Given the description of an element on the screen output the (x, y) to click on. 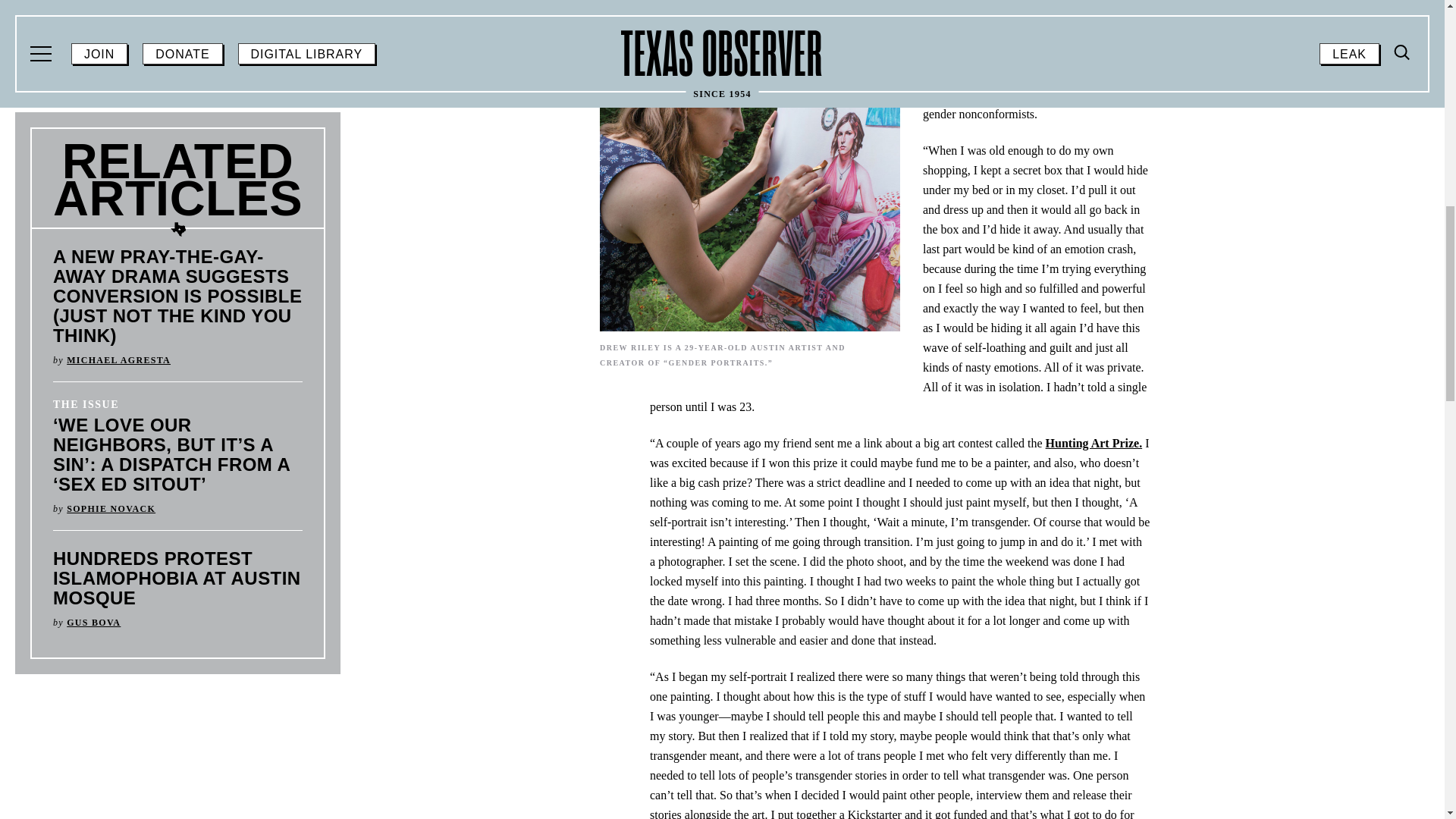
Post by Gus Bova (93, 622)
Post by Sophie Novack (110, 508)
Post by Michael Agresta (118, 359)
